Given the description of an element on the screen output the (x, y) to click on. 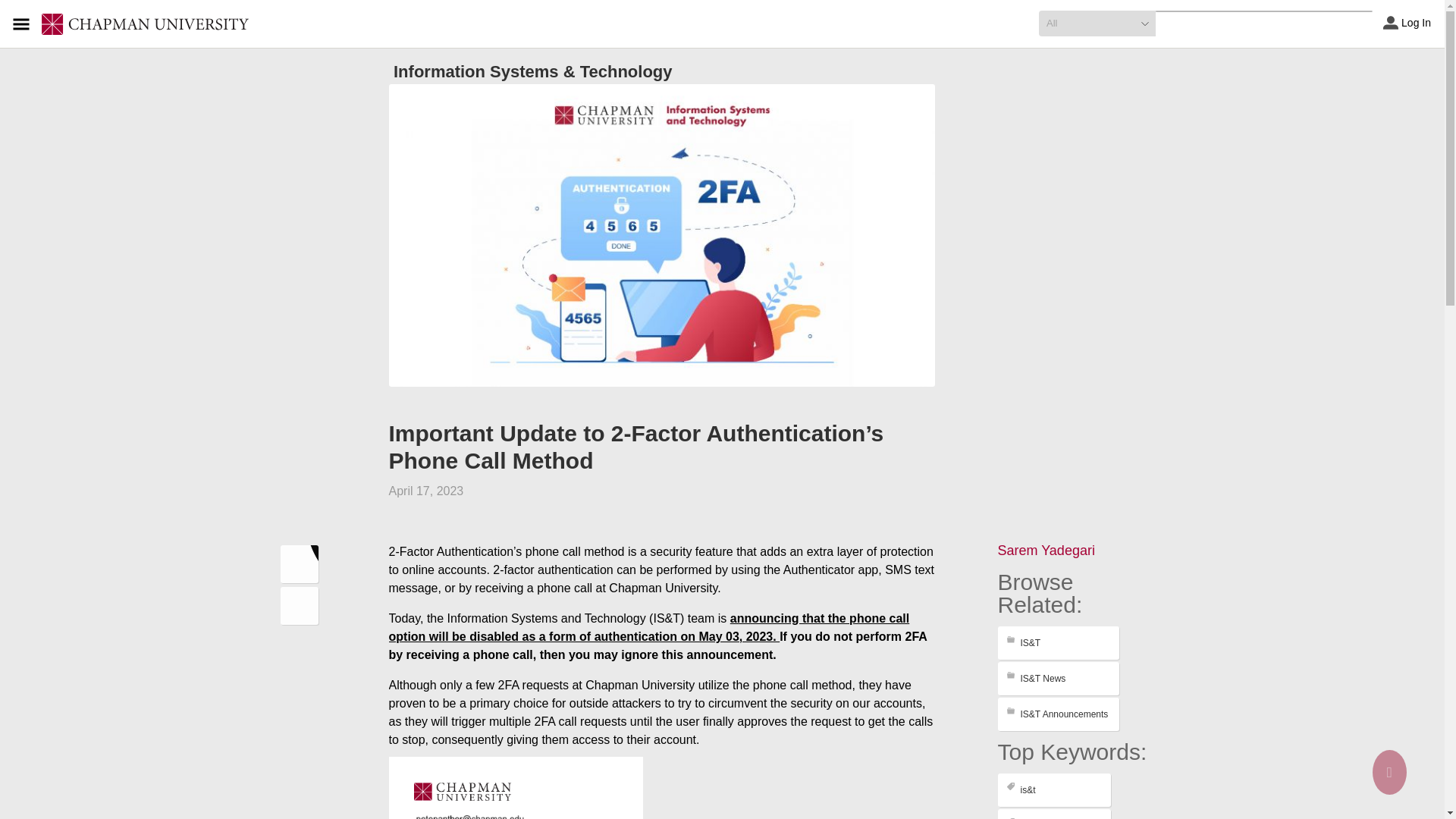
Sarem Yadegari (1045, 549)
Posts by Sarem Yadegari (1045, 549)
Chapman University Website Home Page (145, 24)
information security (1053, 814)
